Given the description of an element on the screen output the (x, y) to click on. 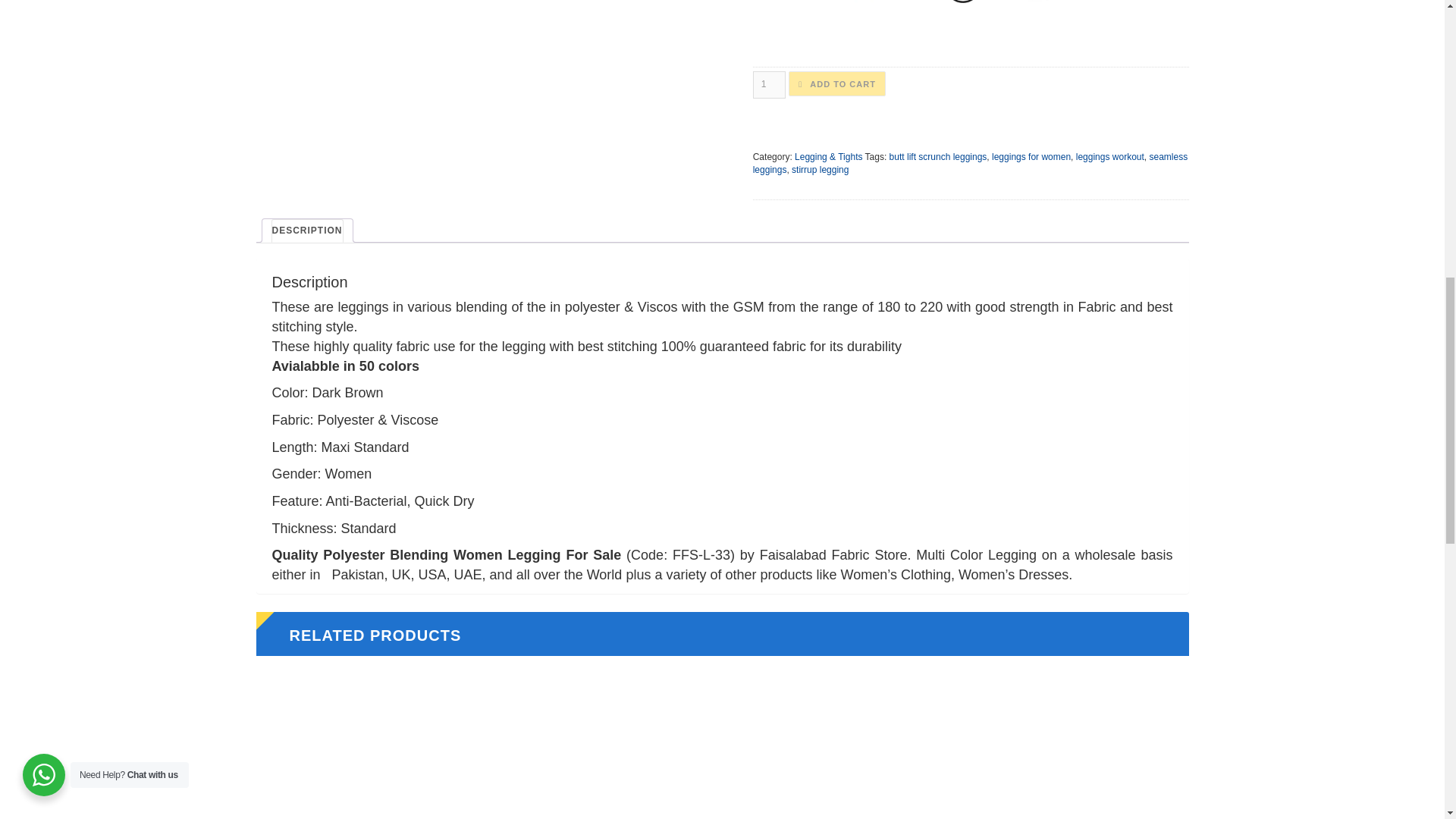
1 (769, 84)
